Given the description of an element on the screen output the (x, y) to click on. 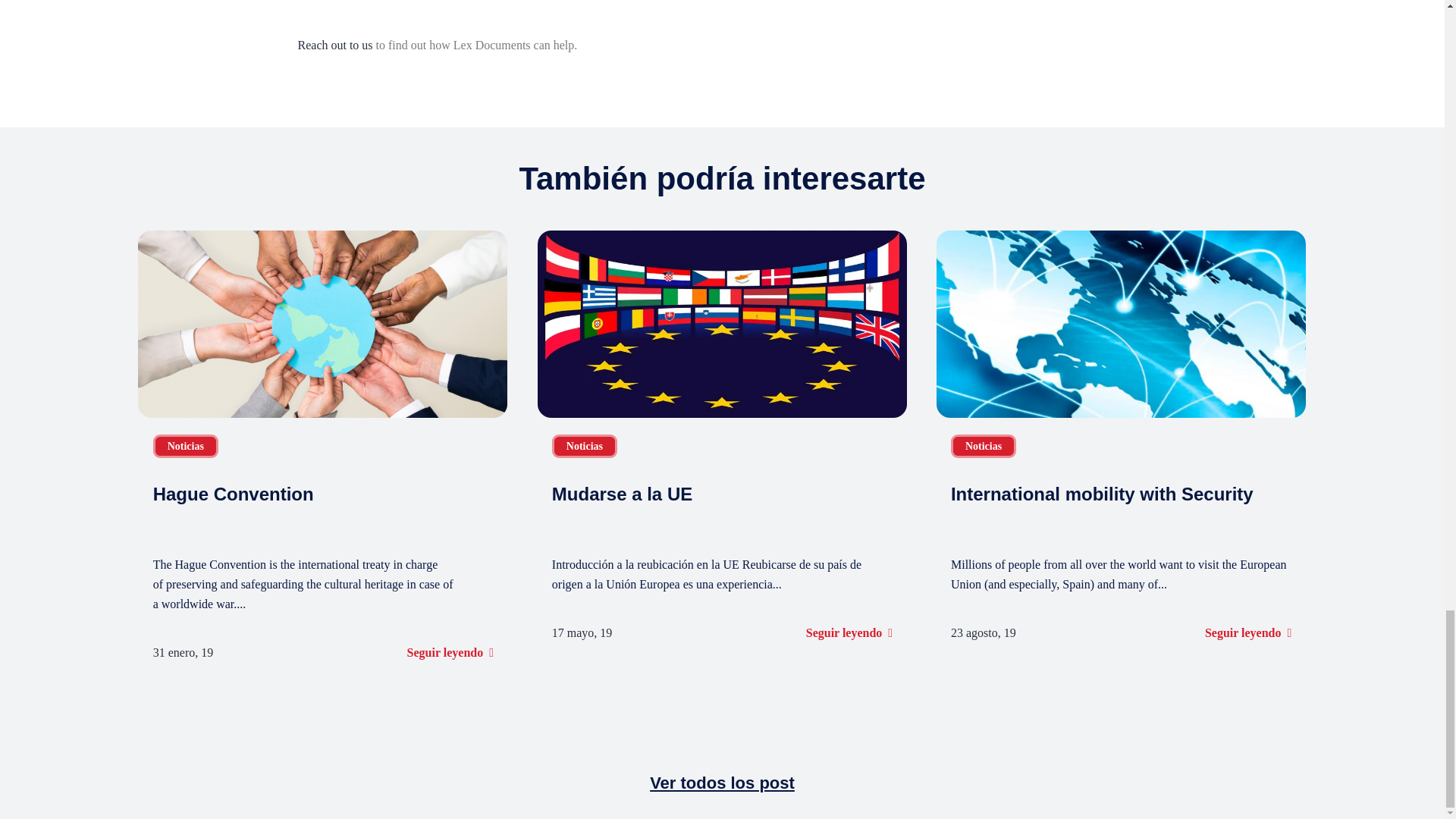
Noticias (584, 446)
Noticias (185, 446)
Noticias (185, 445)
Noticias (983, 446)
Reach out to us (334, 44)
